Given the description of an element on the screen output the (x, y) to click on. 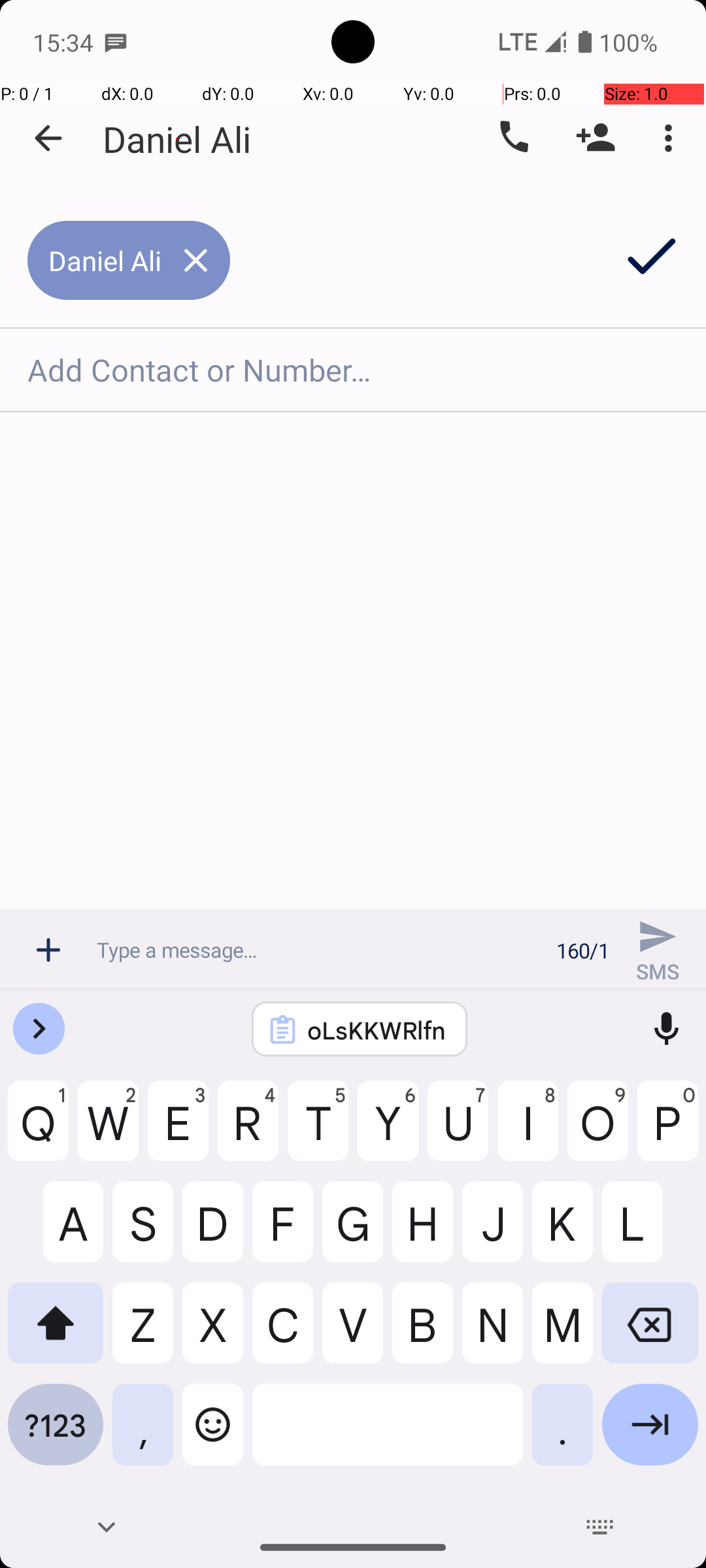
SMS Messenger notification: Isla da Silva Element type: android.widget.ImageView (115, 41)
